Given the description of an element on the screen output the (x, y) to click on. 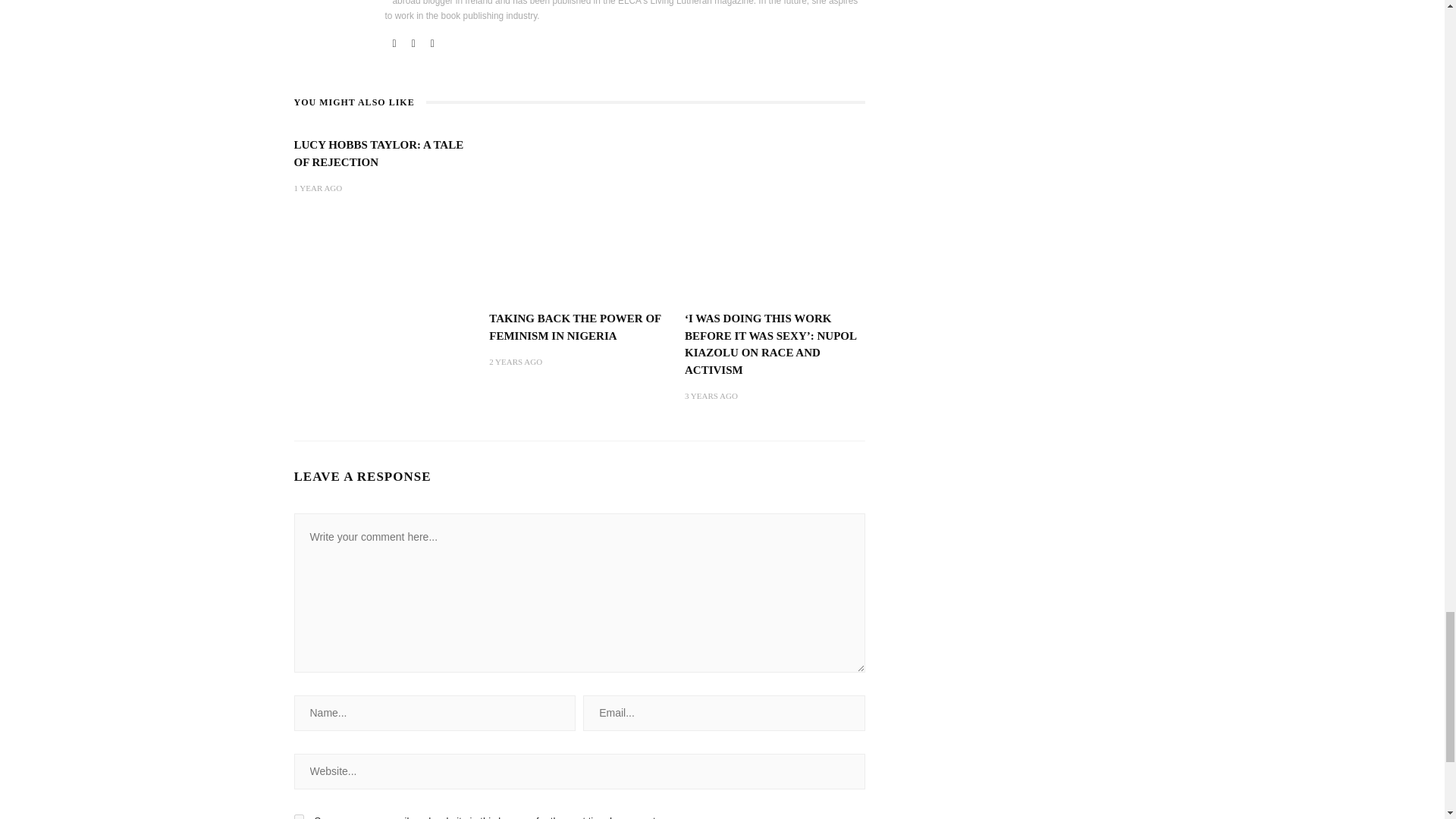
Taking Back The Power Of Feminism In Nigeria (579, 159)
yes (299, 761)
Taking Back The Power Of Feminism In Nigeria (575, 269)
Lucy Hobbs Taylor: A Tale Of Rejection (379, 95)
Leave a comment (351, 807)
